Given the description of an element on the screen output the (x, y) to click on. 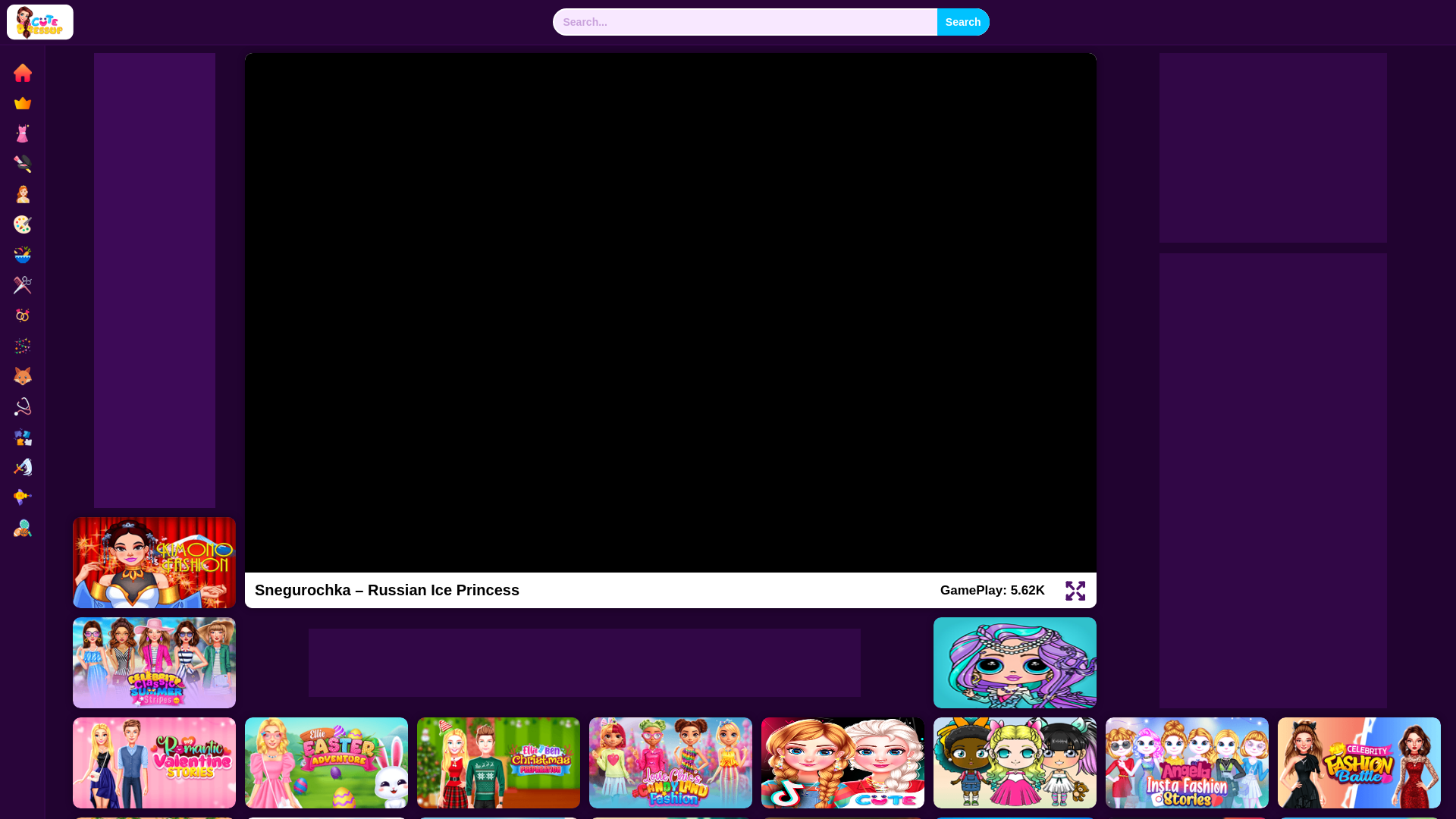
Advertisement (1272, 147)
Search (963, 22)
Celebrity Classic Summer Stripes (153, 662)
Advertisement (584, 662)
Search (963, 22)
My Romantic Valentine Story (153, 762)
Ellie And Ben Christmas Preparation (497, 762)
Kimono Fashion (153, 562)
Monster Popsy Surprise Dolls (1014, 662)
Search (963, 22)
Ellie Easter Adventure (325, 762)
